Given the description of an element on the screen output the (x, y) to click on. 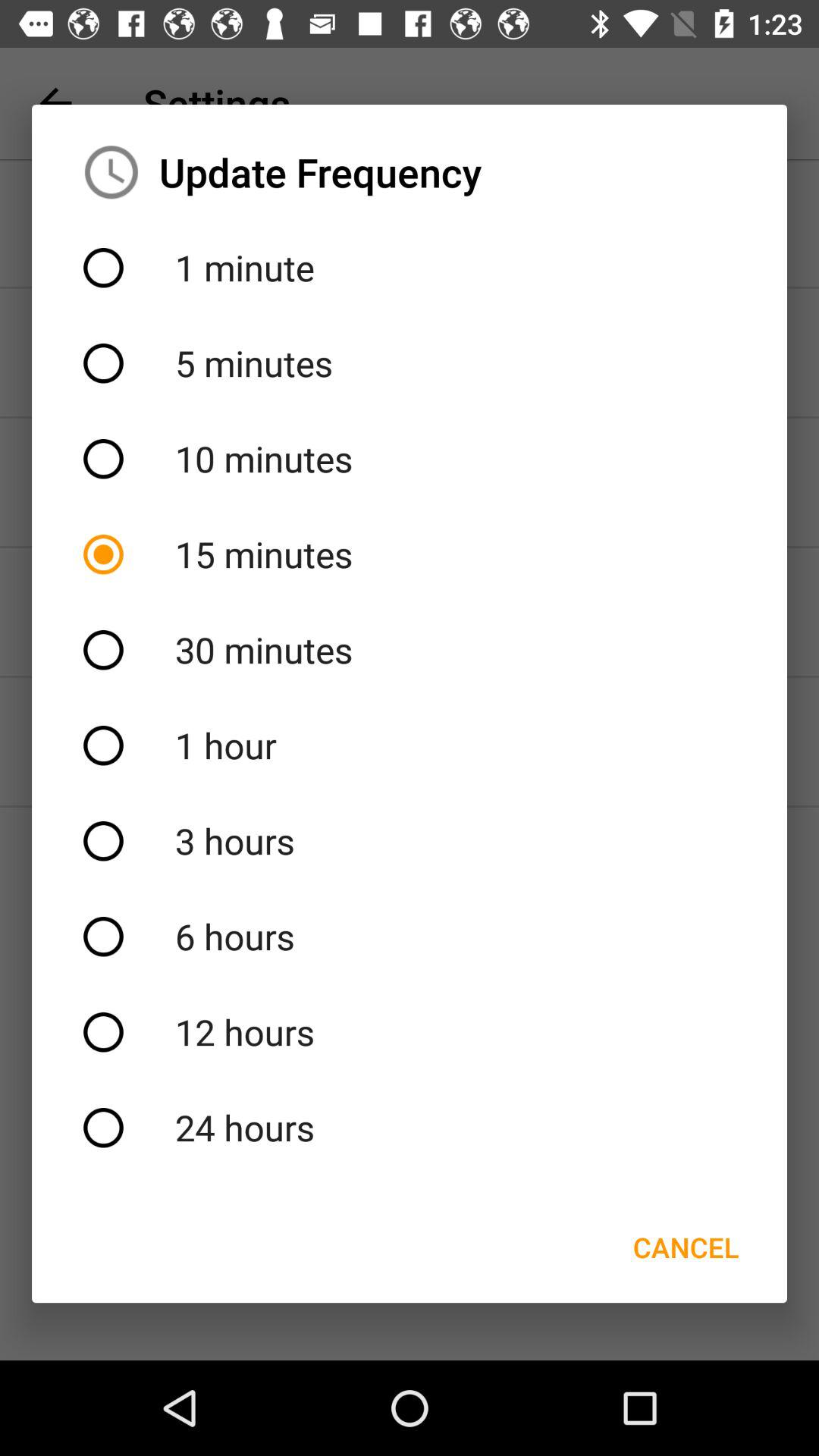
turn off the icon below 15 minutes item (409, 649)
